Given the description of an element on the screen output the (x, y) to click on. 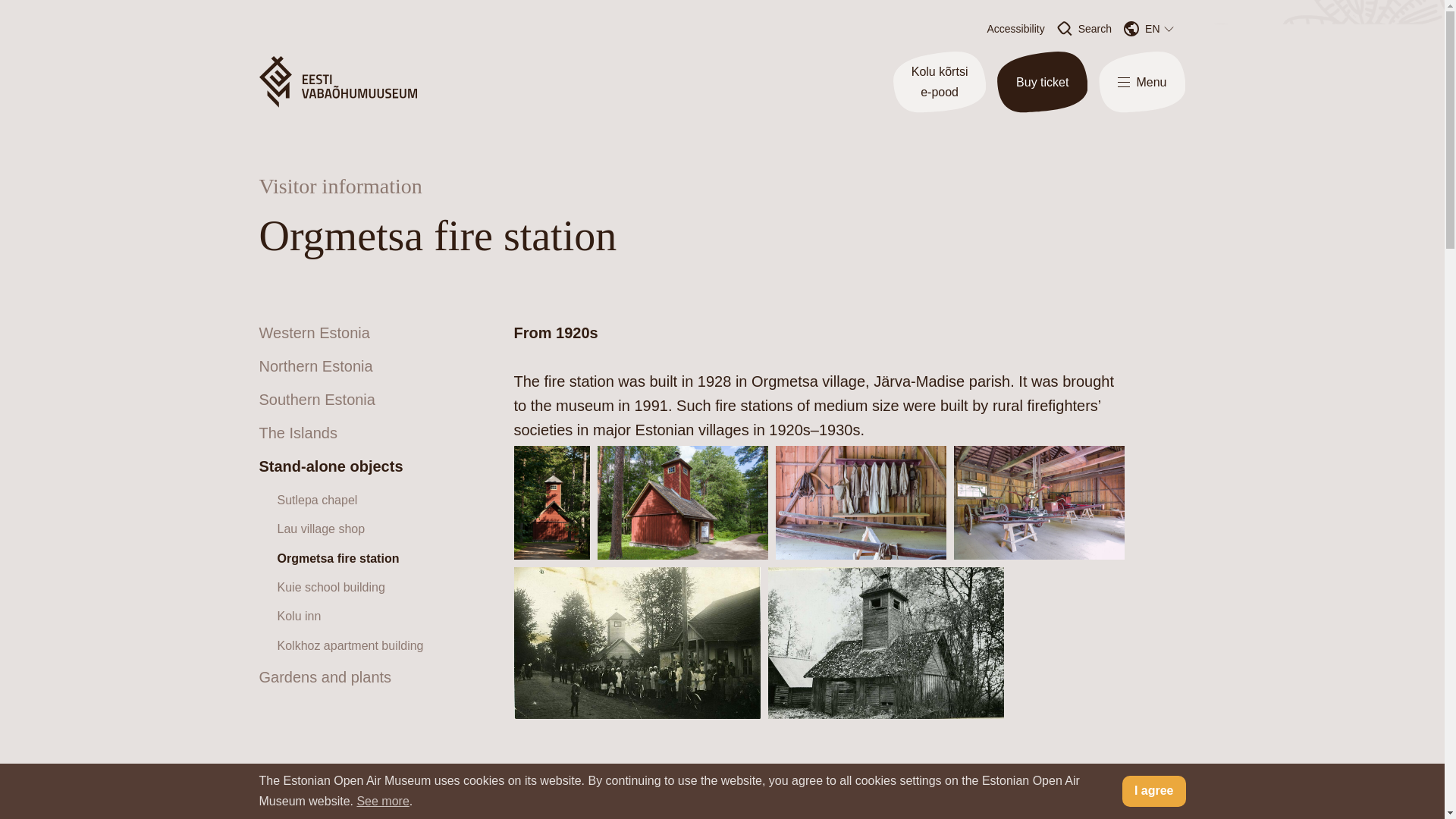
Search (1084, 28)
Gardens and plants (325, 677)
Kolu inn (299, 615)
Sutlepa chapel (318, 499)
Stand-alone objects (331, 466)
The Islands (298, 433)
Lau village shop (321, 528)
Northern Estonia (315, 365)
Southern Estonia (317, 399)
Accessibility (1015, 28)
